Given the description of an element on the screen output the (x, y) to click on. 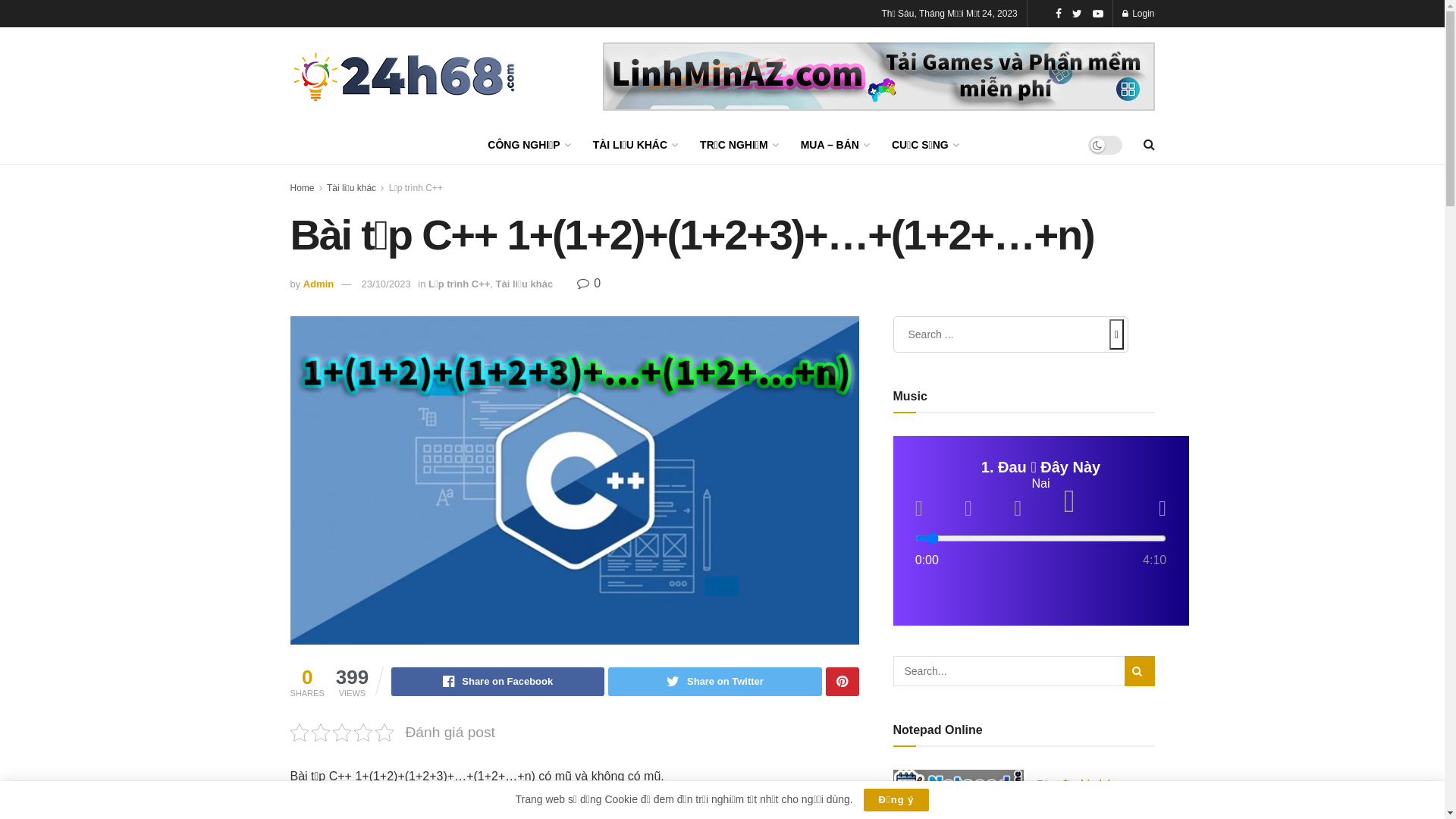
Previous Track Element type: hover (918, 508)
Share on Facebook Element type: text (497, 681)
Next Track Element type: hover (1162, 508)
Login Element type: text (1138, 13)
Home Element type: text (301, 187)
23/10/2023 Element type: text (386, 283)
0 Element type: text (588, 282)
Back 10 seconds Element type: hover (968, 508)
Admin Element type: text (318, 283)
Share on Twitter Element type: text (714, 681)
